Given the description of an element on the screen output the (x, y) to click on. 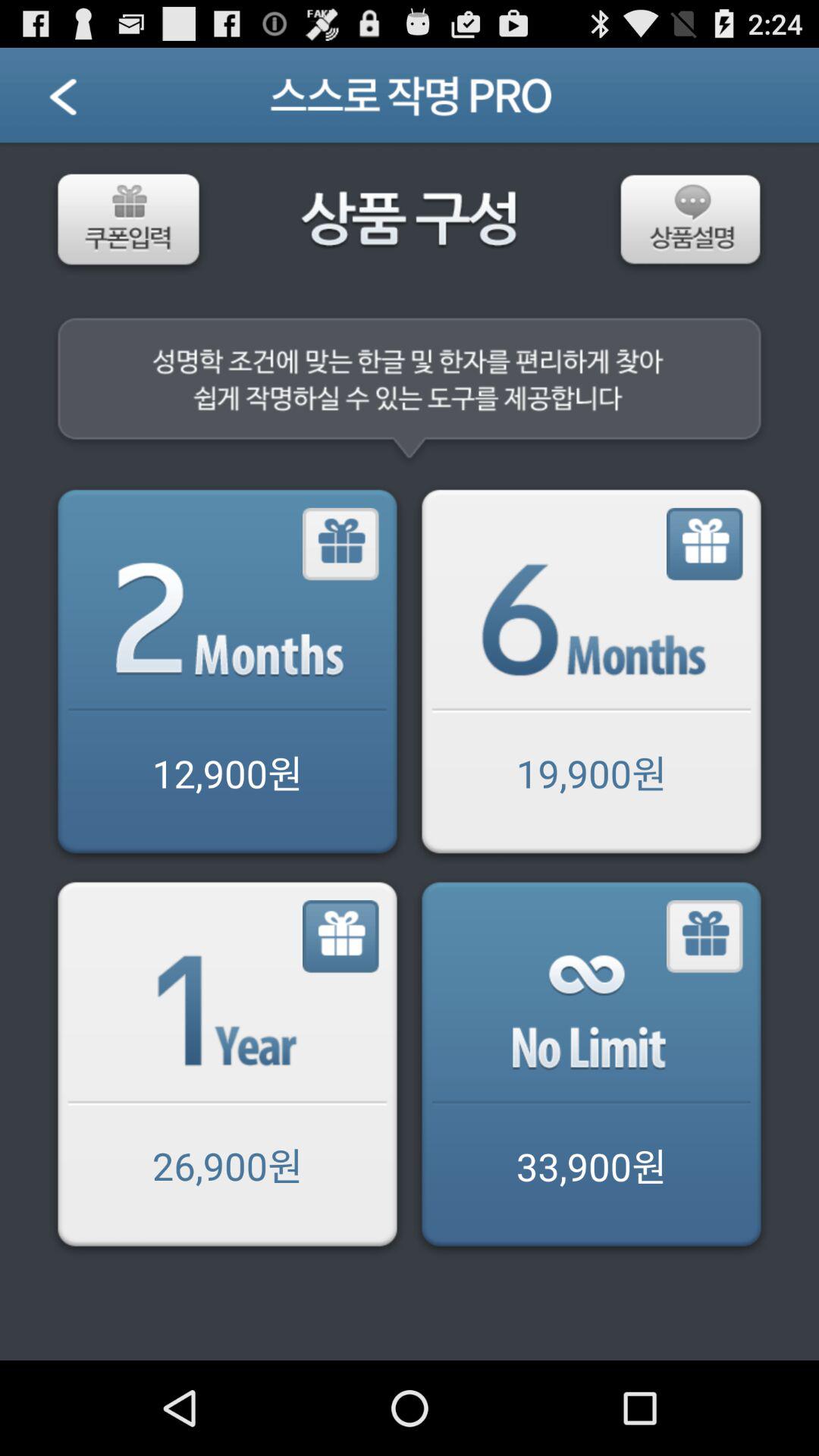
go back button option (591, 674)
